Given the description of an element on the screen output the (x, y) to click on. 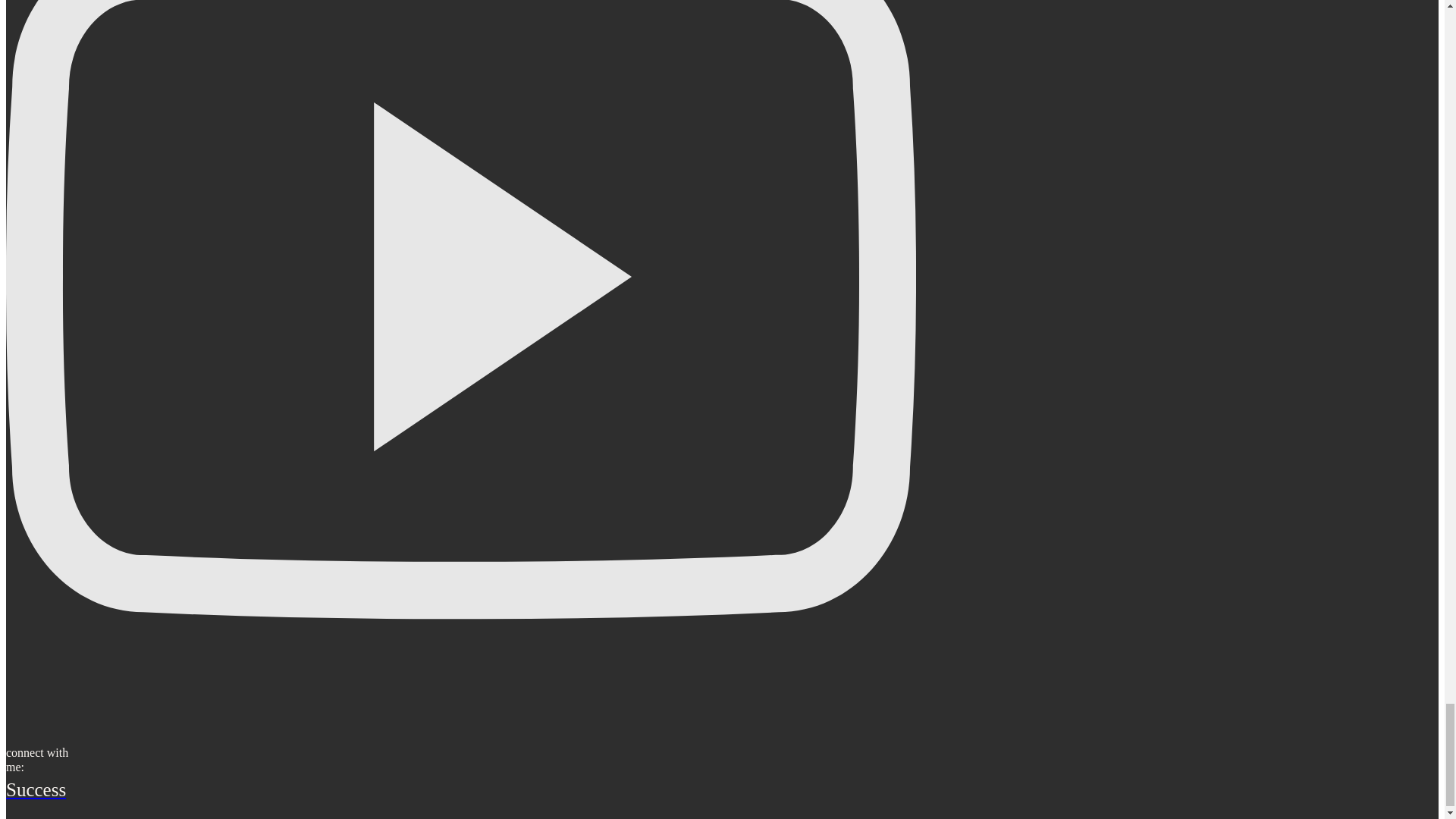
Success (460, 789)
